Given the description of an element on the screen output the (x, y) to click on. 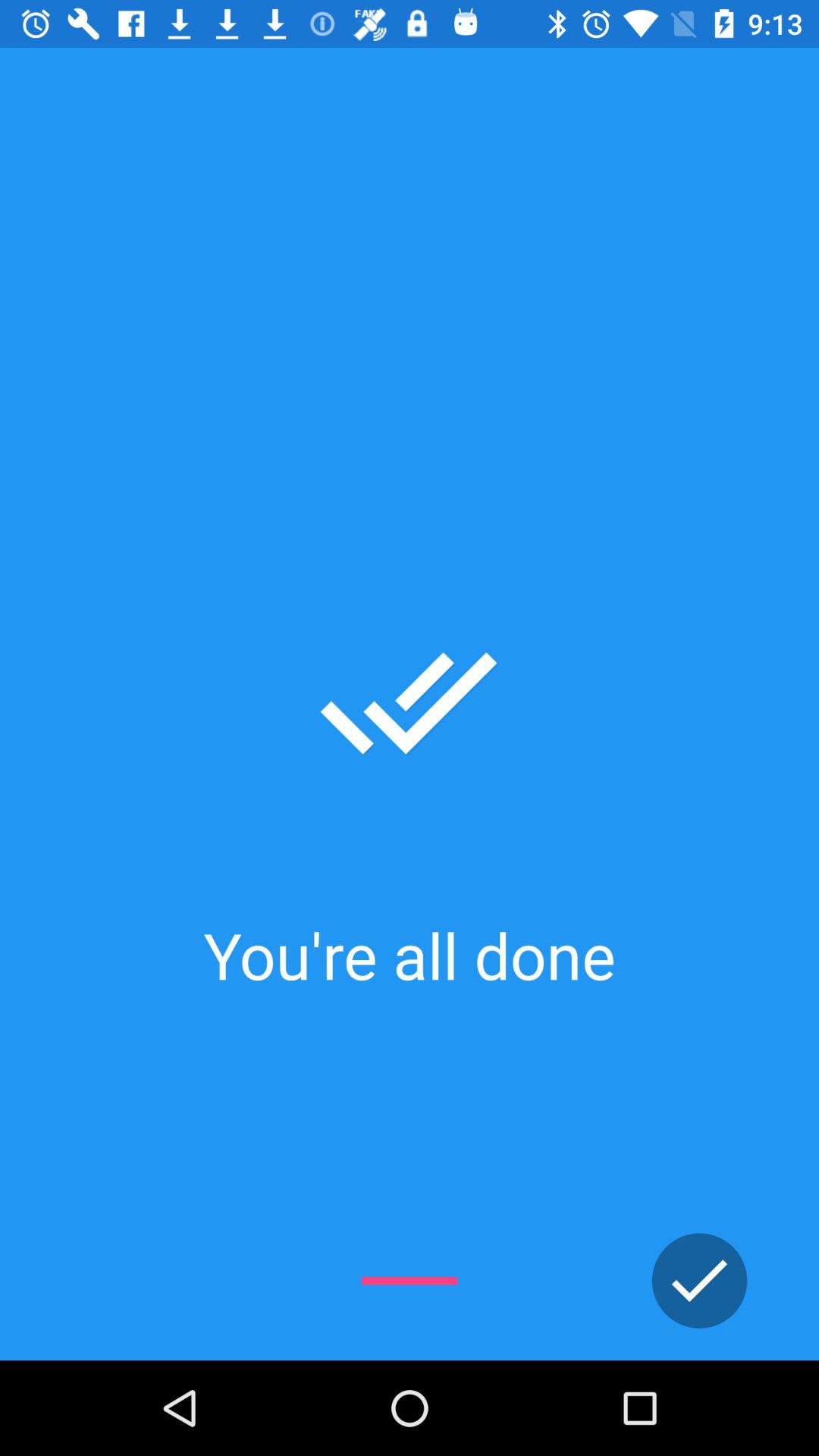
finish menu (699, 1280)
